Given the description of an element on the screen output the (x, y) to click on. 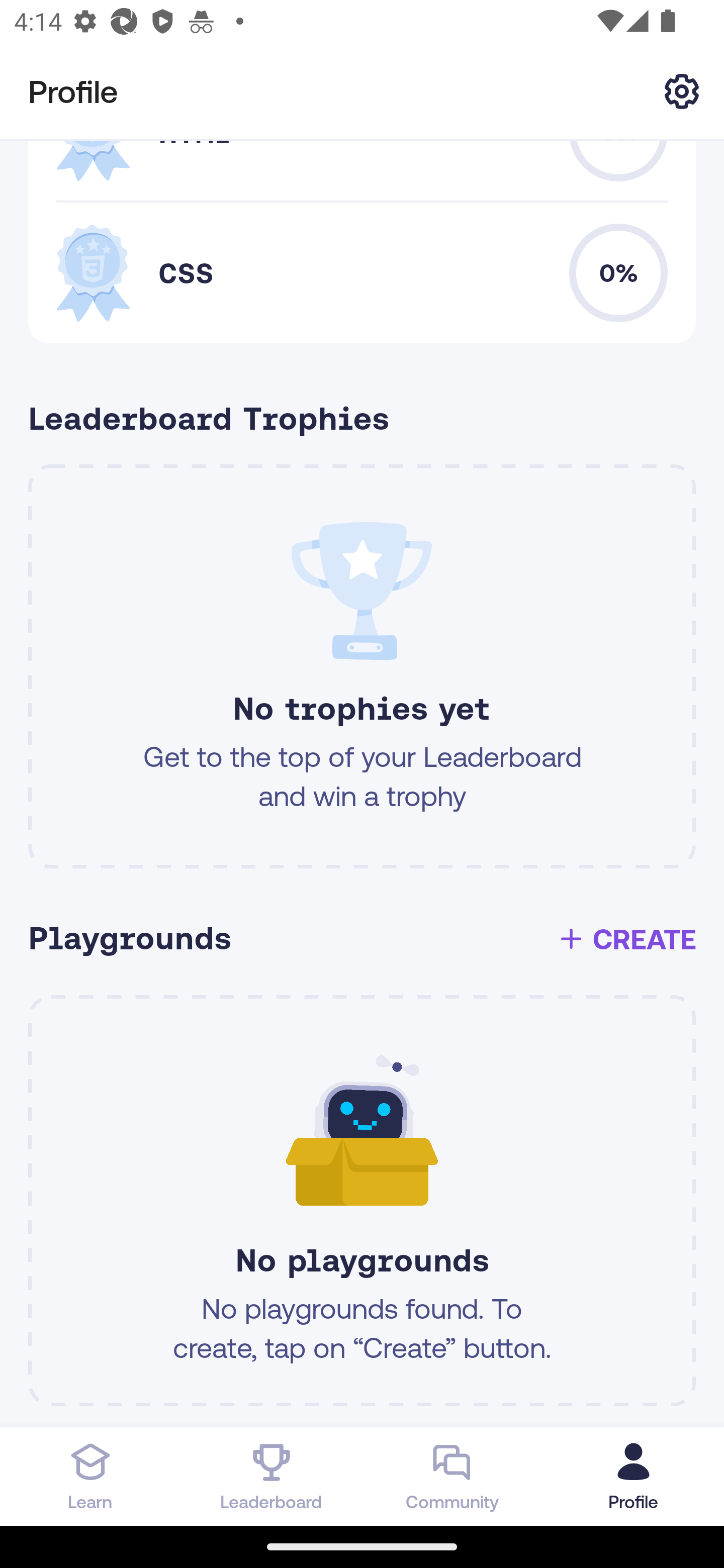
Settings (681, 90)
CSS 0.0 0% (361, 272)
Playgrounds CREATE (369, 938)
CREATE (626, 938)
Learn (90, 1475)
Leaderboard (271, 1475)
Community (452, 1475)
